Given the description of an element on the screen output the (x, y) to click on. 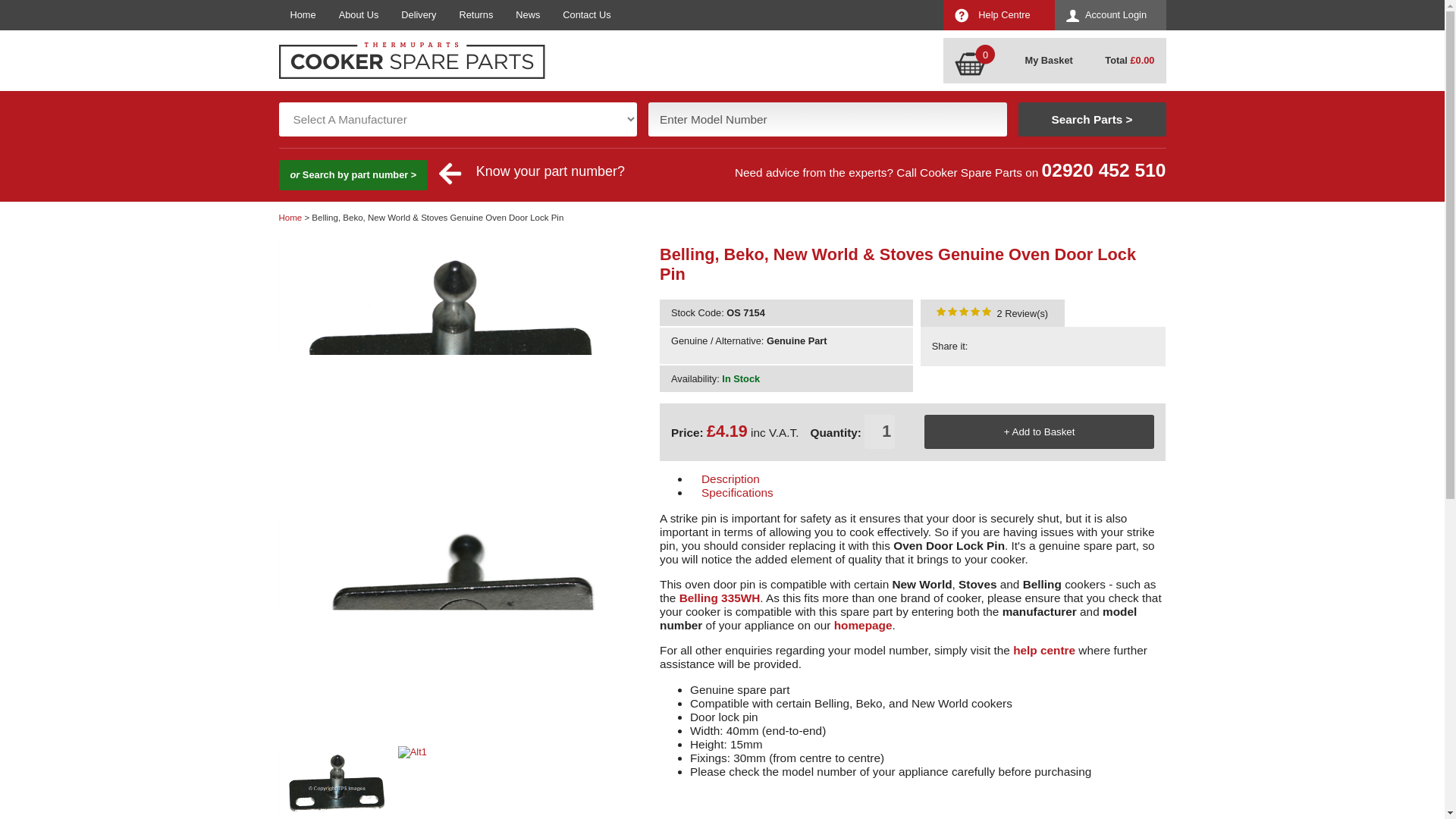
homepage (863, 625)
Belling 335WH (719, 597)
Help Centre (998, 15)
call us today on 02920 452 510 (1104, 169)
Specifications (809, 492)
help centre (1044, 649)
Home (303, 15)
Cooker Spare Parts (863, 625)
Home (290, 216)
Enter Model Number (827, 119)
